Given the description of an element on the screen output the (x, y) to click on. 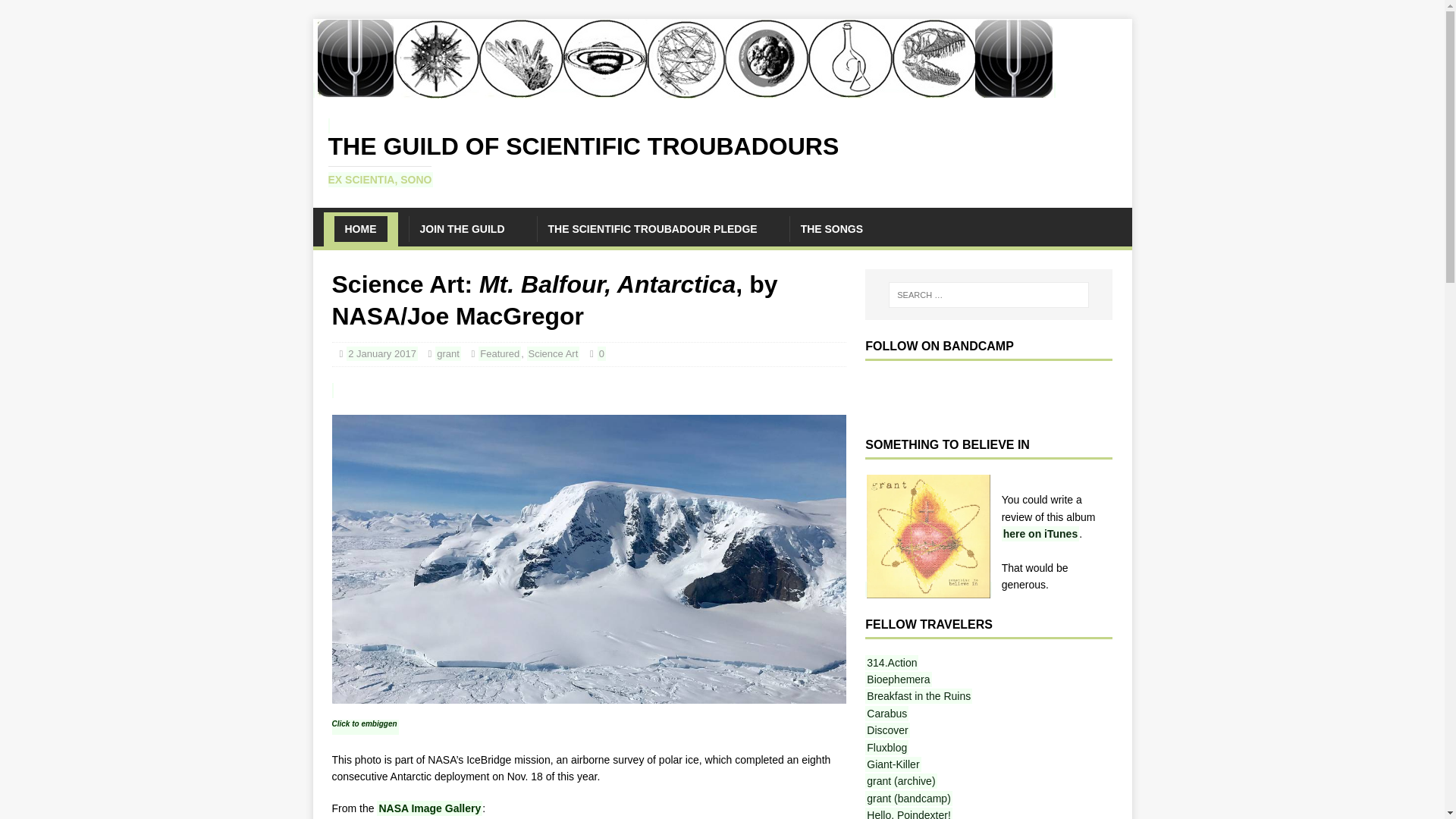
grant (448, 353)
The Guild of Scientific Troubadours (721, 152)
The Guild travels elsewhere. (908, 798)
Giant-Killer (892, 764)
Breakfast in the Ruins (918, 695)
the guildmaster (900, 780)
HOME (360, 228)
Bioephemera (897, 679)
THE SCIENTIFIC TROUBADOUR PLEDGE (652, 228)
Hello, Poindexter! (908, 813)
